Given the description of an element on the screen output the (x, y) to click on. 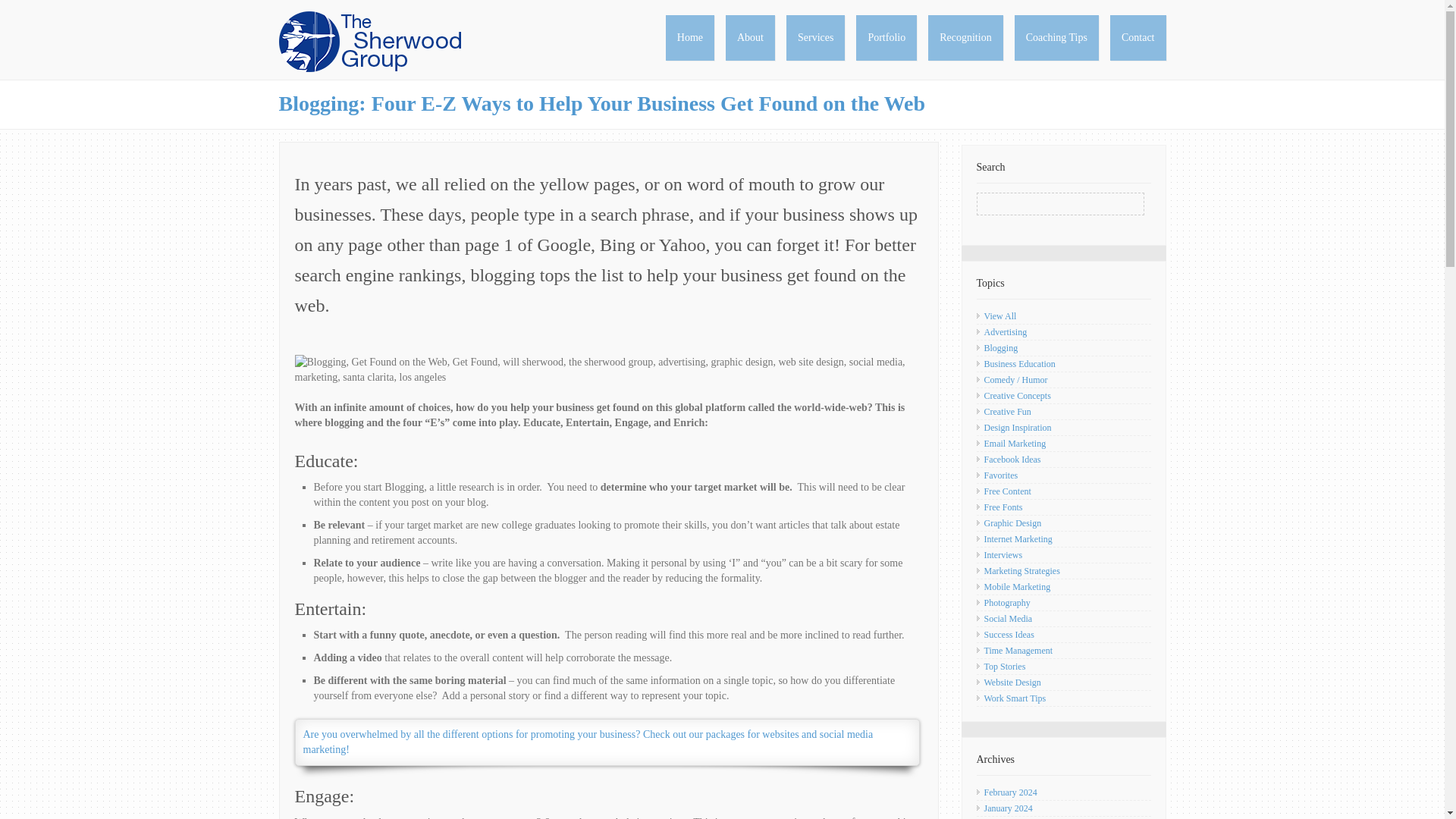
Portfolio (886, 37)
Services (815, 37)
Award-winning Graphic Design Portfolio (886, 37)
About (749, 37)
Home (689, 37)
Recognition (965, 37)
Coaching Tips (1056, 37)
Contact (1137, 37)
